Given the description of an element on the screen output the (x, y) to click on. 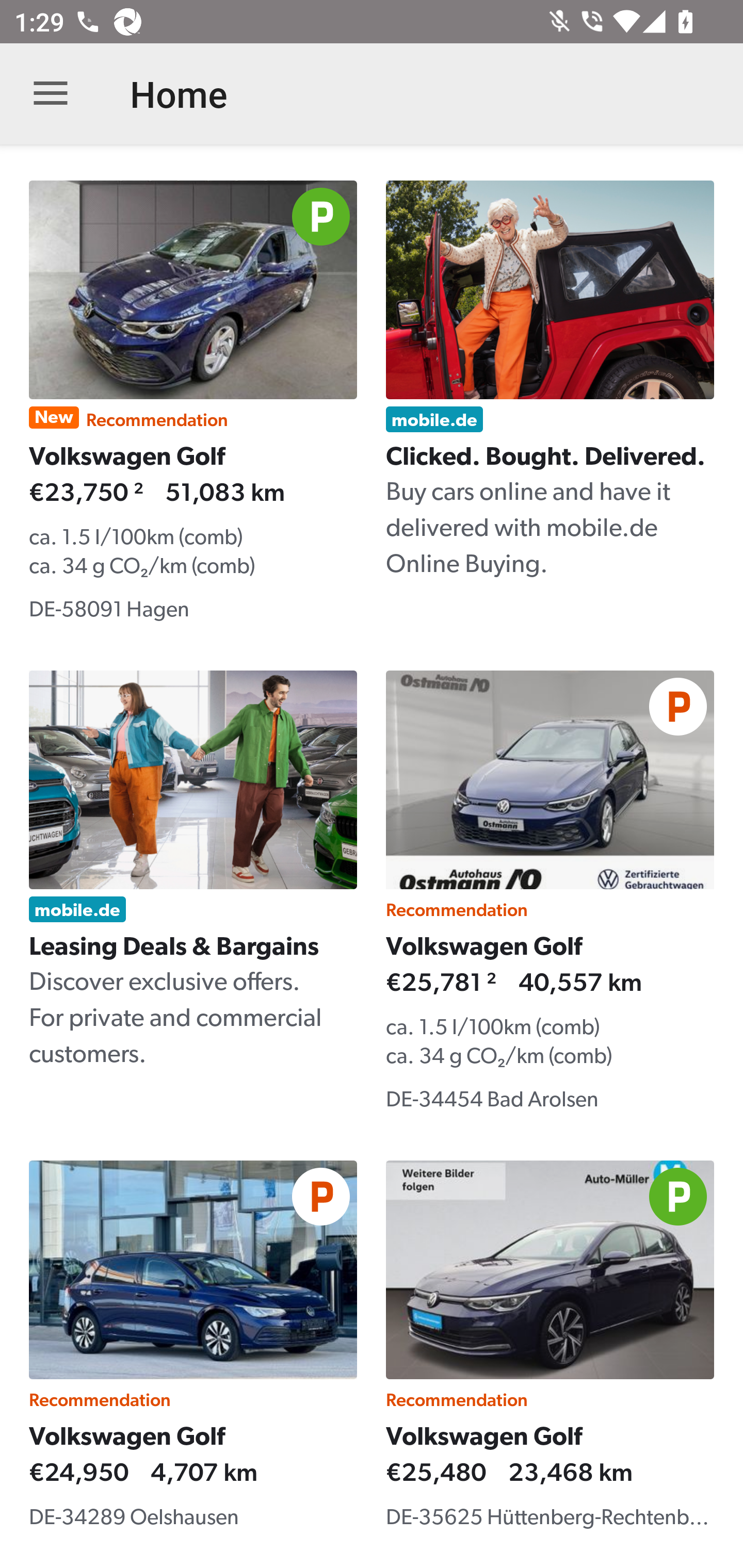
Open navigation bar (50, 93)
